Given the description of an element on the screen output the (x, y) to click on. 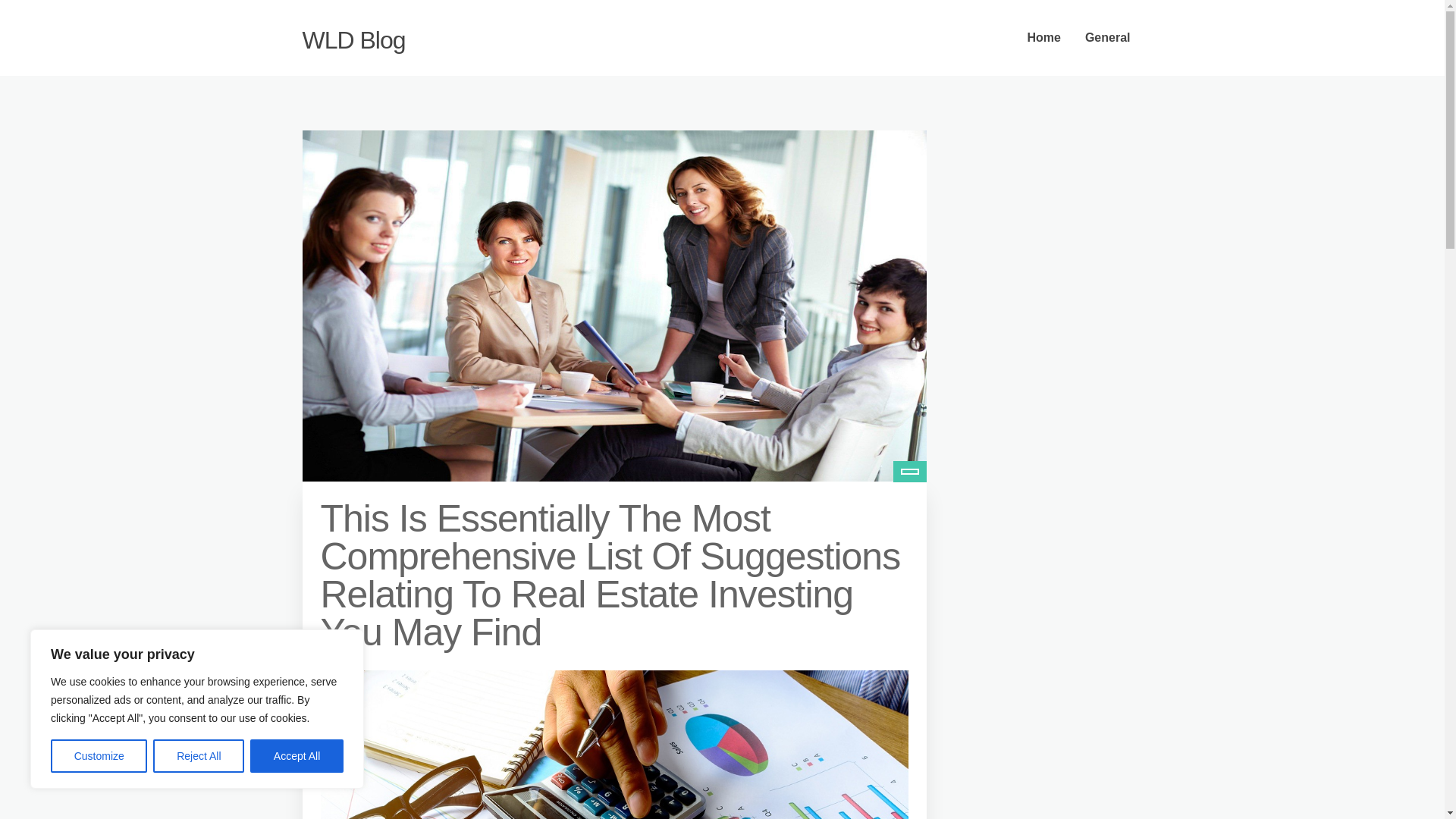
WLD Blog (352, 39)
Accept All (296, 756)
Customize (98, 756)
Home (1042, 37)
General (1107, 37)
Reject All (198, 756)
